Given the description of an element on the screen output the (x, y) to click on. 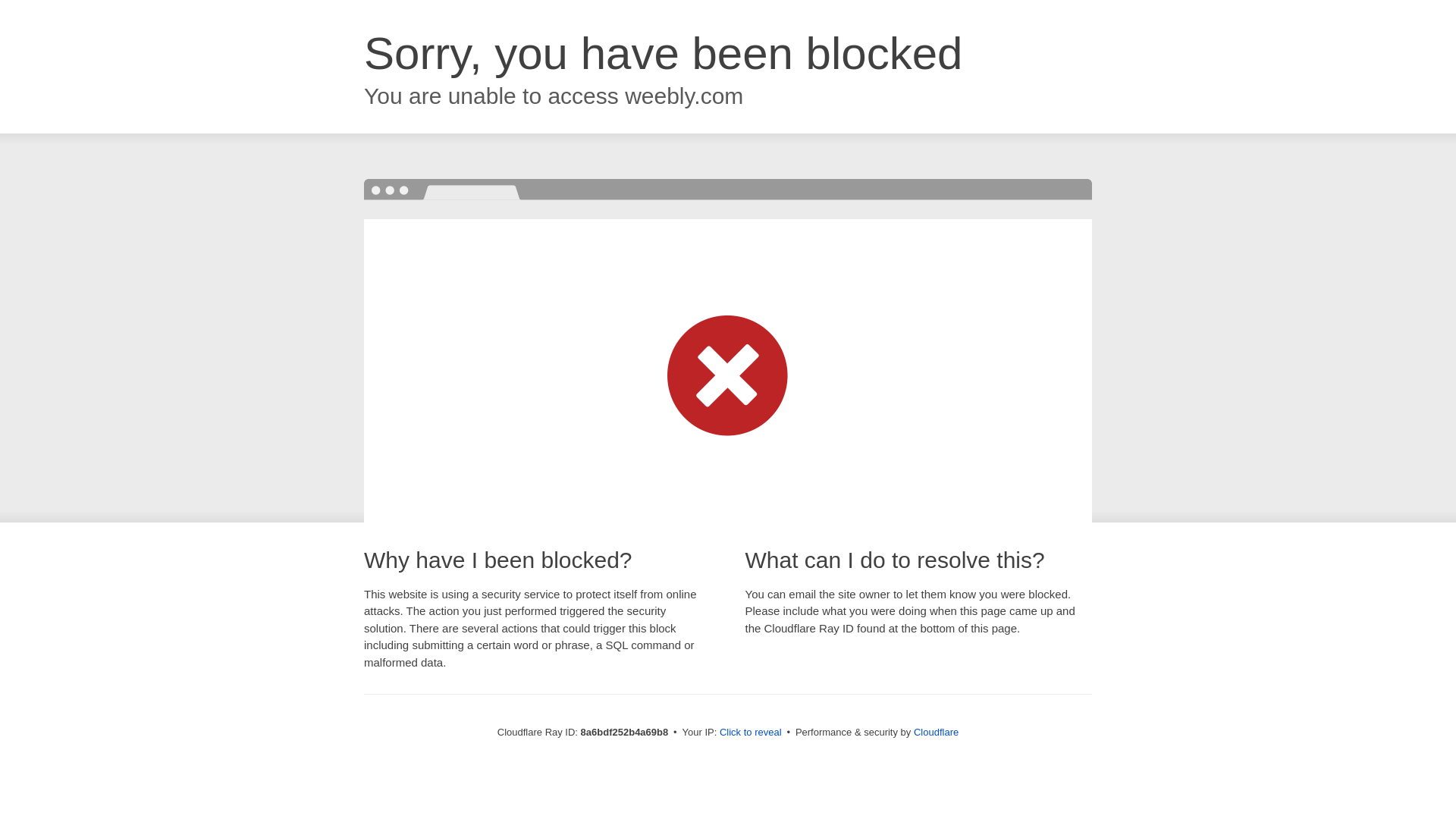
Click to reveal (750, 732)
Cloudflare (936, 731)
